Given the description of an element on the screen output the (x, y) to click on. 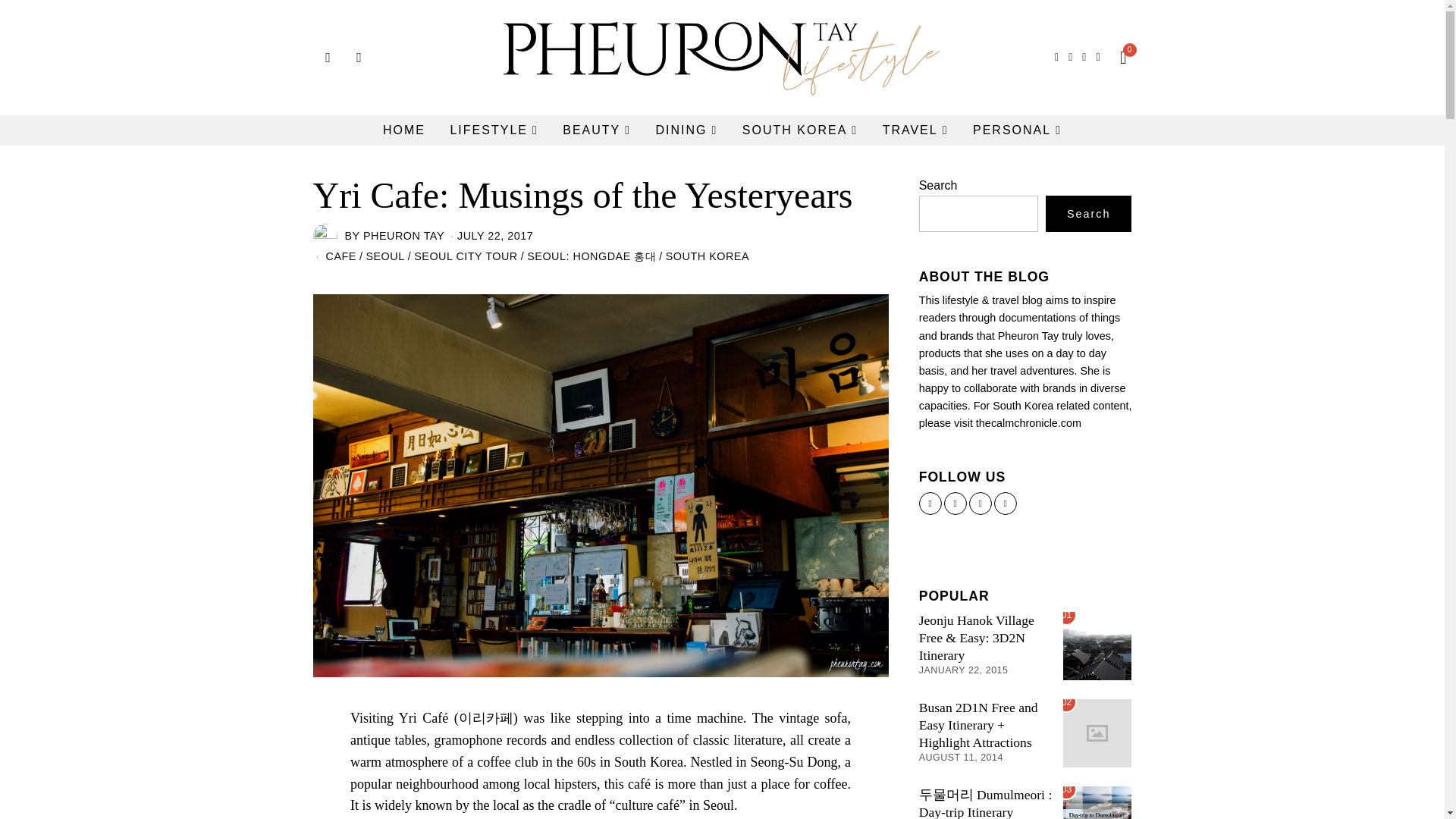
BEAUTY (596, 130)
0 (1118, 57)
DINING (687, 130)
LIFESTYLE (493, 130)
SOUTH KOREA (799, 130)
HOME (403, 130)
TRAVEL (915, 130)
